Given the description of an element on the screen output the (x, y) to click on. 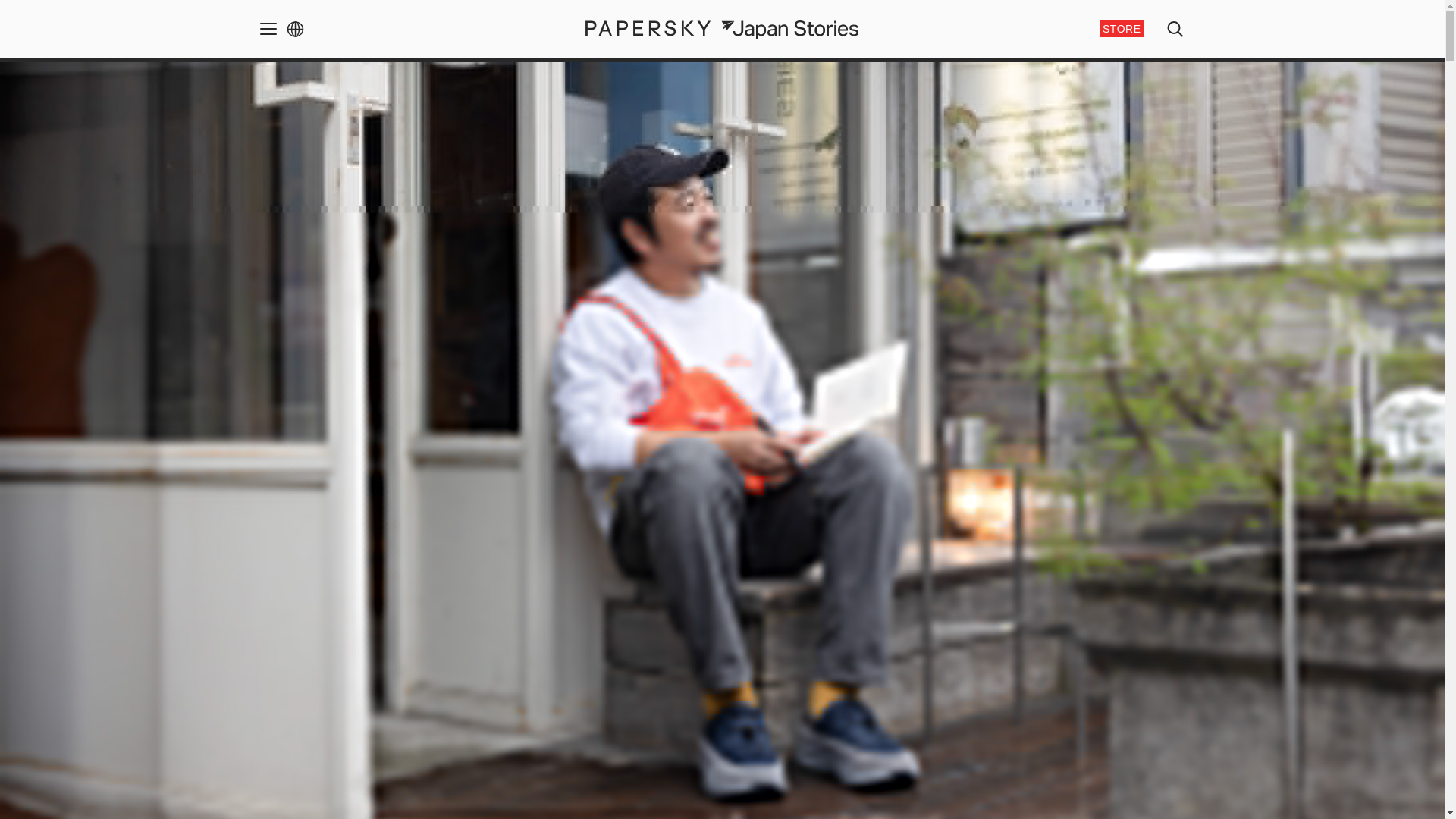
STORE (1120, 28)
Join (419, 635)
Join (788, 522)
